Given the description of an element on the screen output the (x, y) to click on. 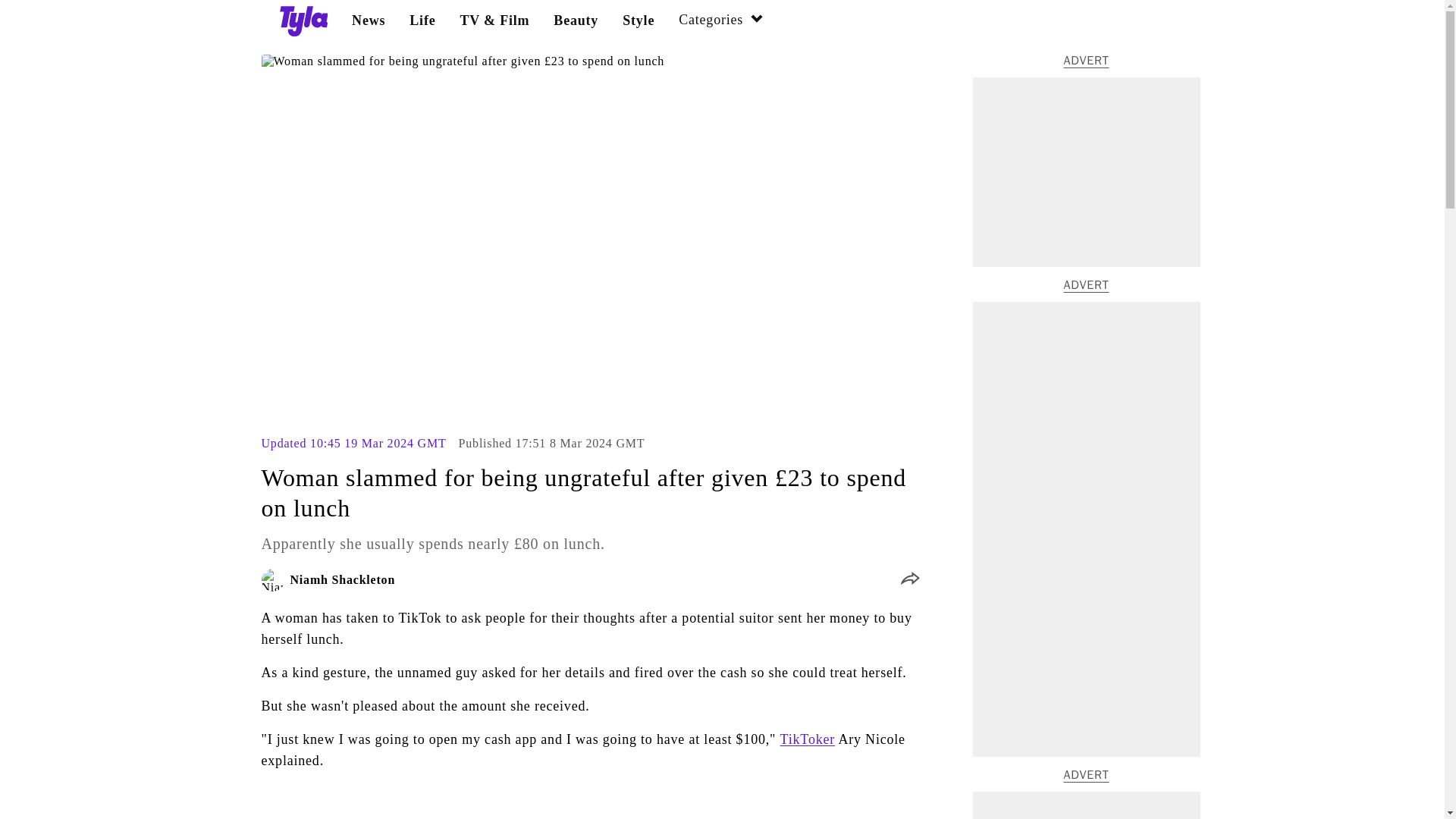
Categories (721, 21)
Beauty (575, 20)
